Given the description of an element on the screen output the (x, y) to click on. 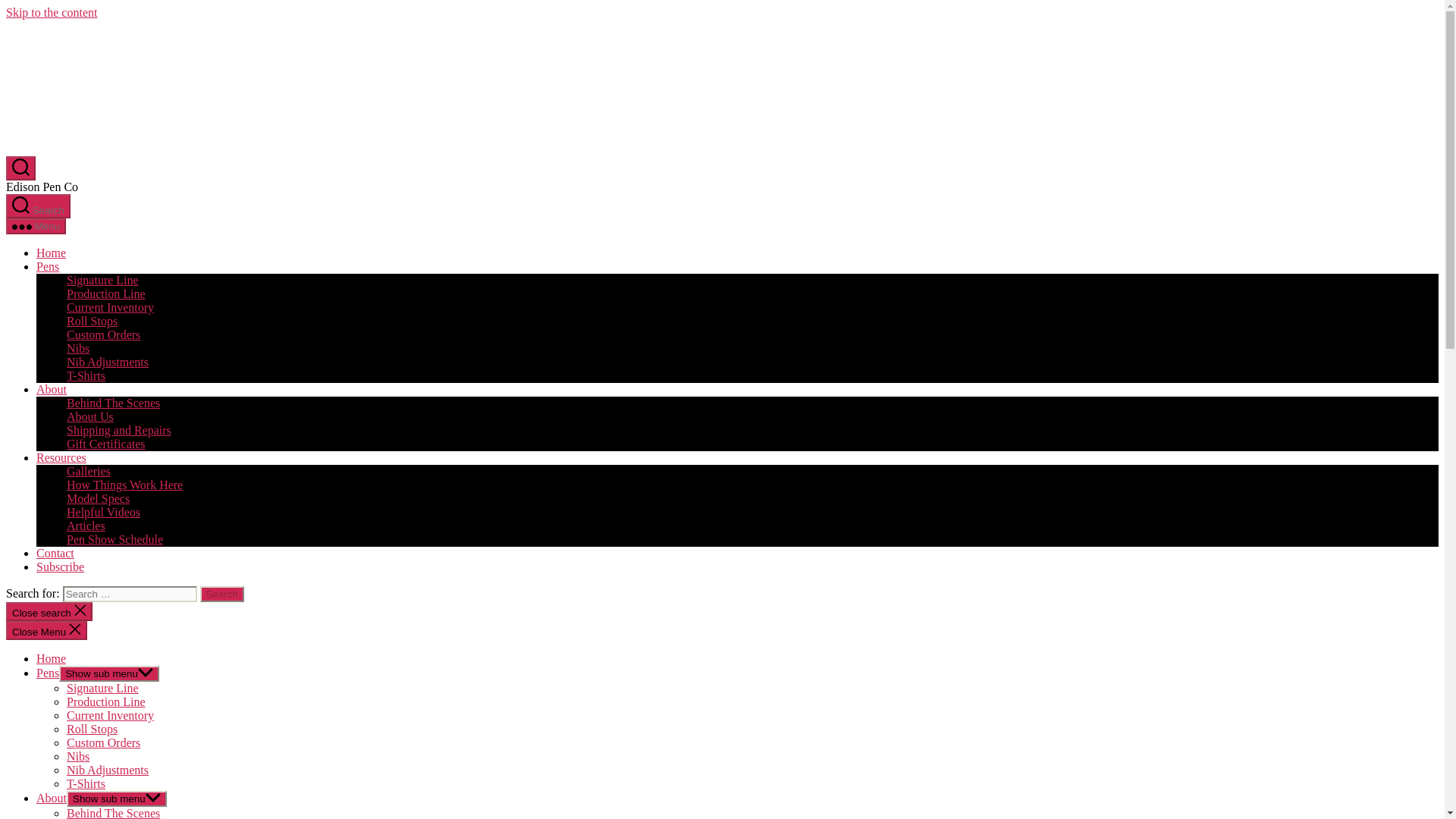
Subscribe (60, 566)
Roll Stops (91, 320)
Home (50, 252)
Show sub menu (108, 673)
Skip to the content (51, 11)
Close search (49, 610)
How Things Work Here (124, 484)
Resources (60, 457)
Gift Certificates (105, 443)
Search (222, 593)
